Given the description of an element on the screen output the (x, y) to click on. 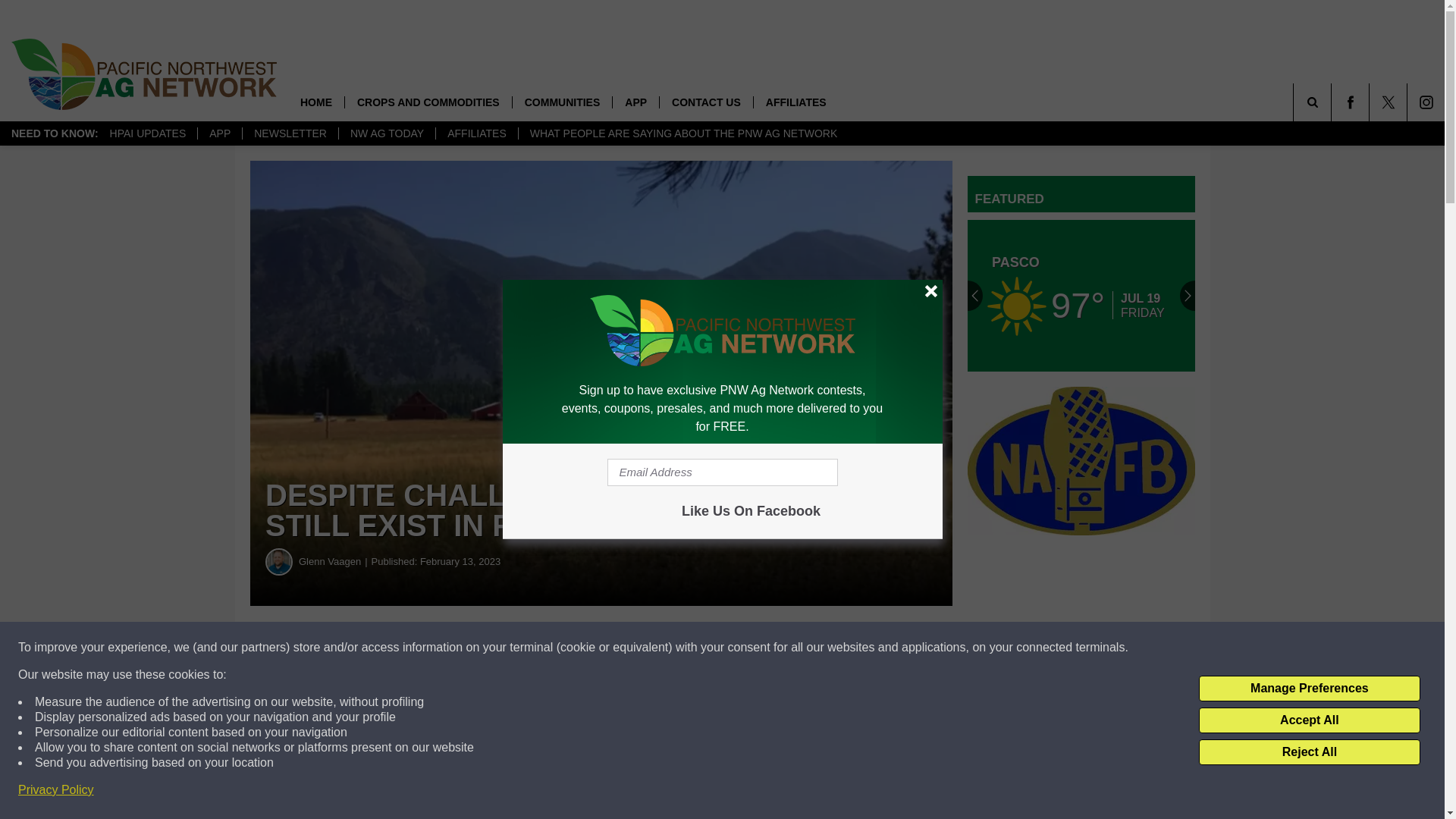
HPAI UPDATES (148, 133)
NW AG TODAY (386, 133)
Share on Facebook (460, 647)
COMMUNITIES (562, 102)
Accept All (1309, 720)
Share on Twitter (741, 647)
APP (218, 133)
CROPS AND COMMODITIES (427, 102)
SEARCH (1333, 102)
Privacy Policy (55, 789)
HOME (315, 102)
SEARCH (1333, 102)
NEWSLETTER (289, 133)
Pasco Weather (1081, 295)
Email Address (722, 472)
